Given the description of an element on the screen output the (x, y) to click on. 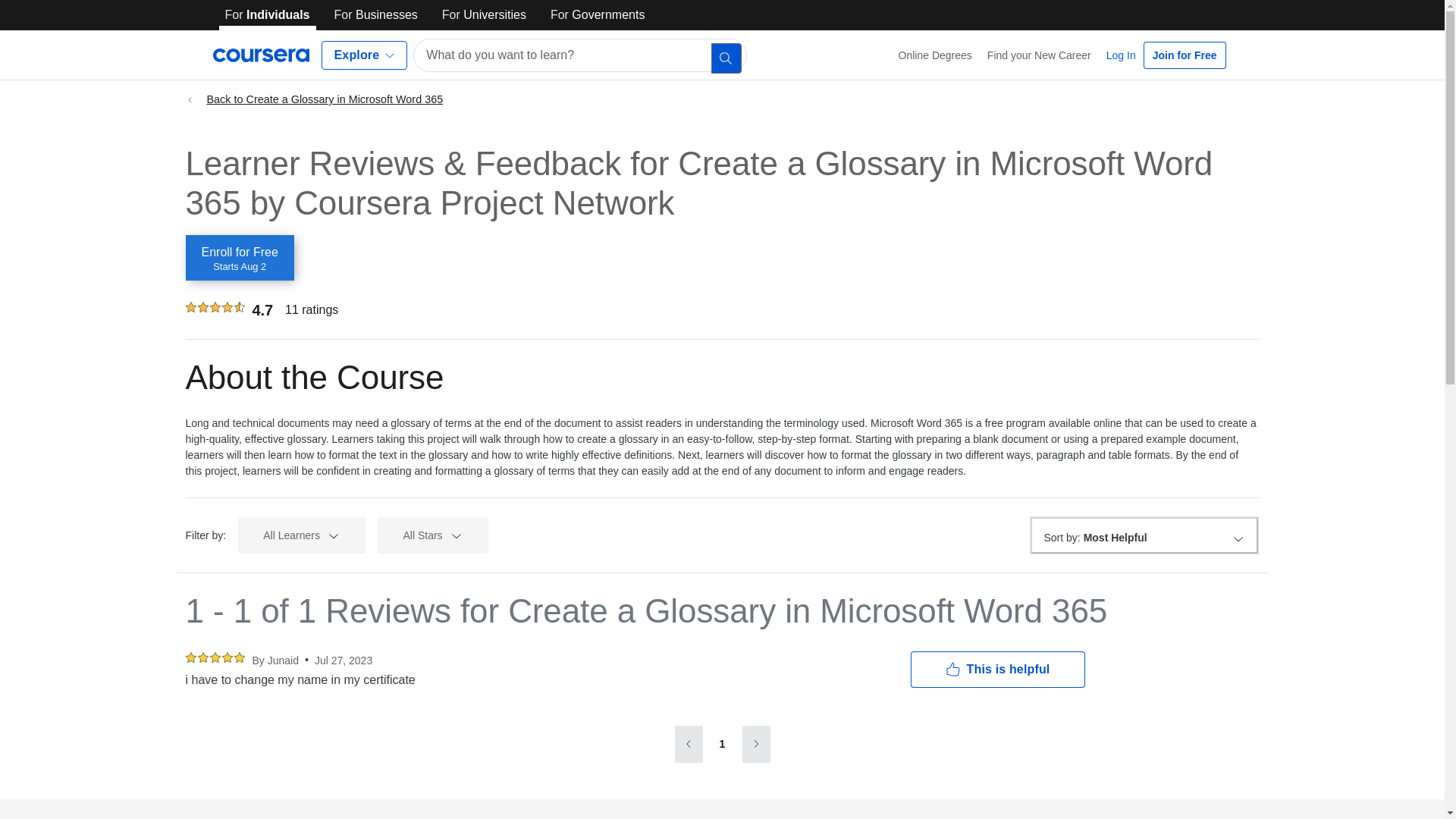
Filled Star (214, 307)
All Stars (432, 534)
Filled Star (189, 307)
Log In (1120, 54)
Online Degrees (935, 54)
Explore (364, 54)
Filled Star (238, 656)
Back to Create a Glossary in Microsoft Word 365 (721, 93)
For Individuals (266, 15)
Filled Star (239, 257)
Filled Star (226, 656)
All Learners (214, 656)
For Universities (301, 534)
Filled Star (483, 15)
